Given the description of an element on the screen output the (x, y) to click on. 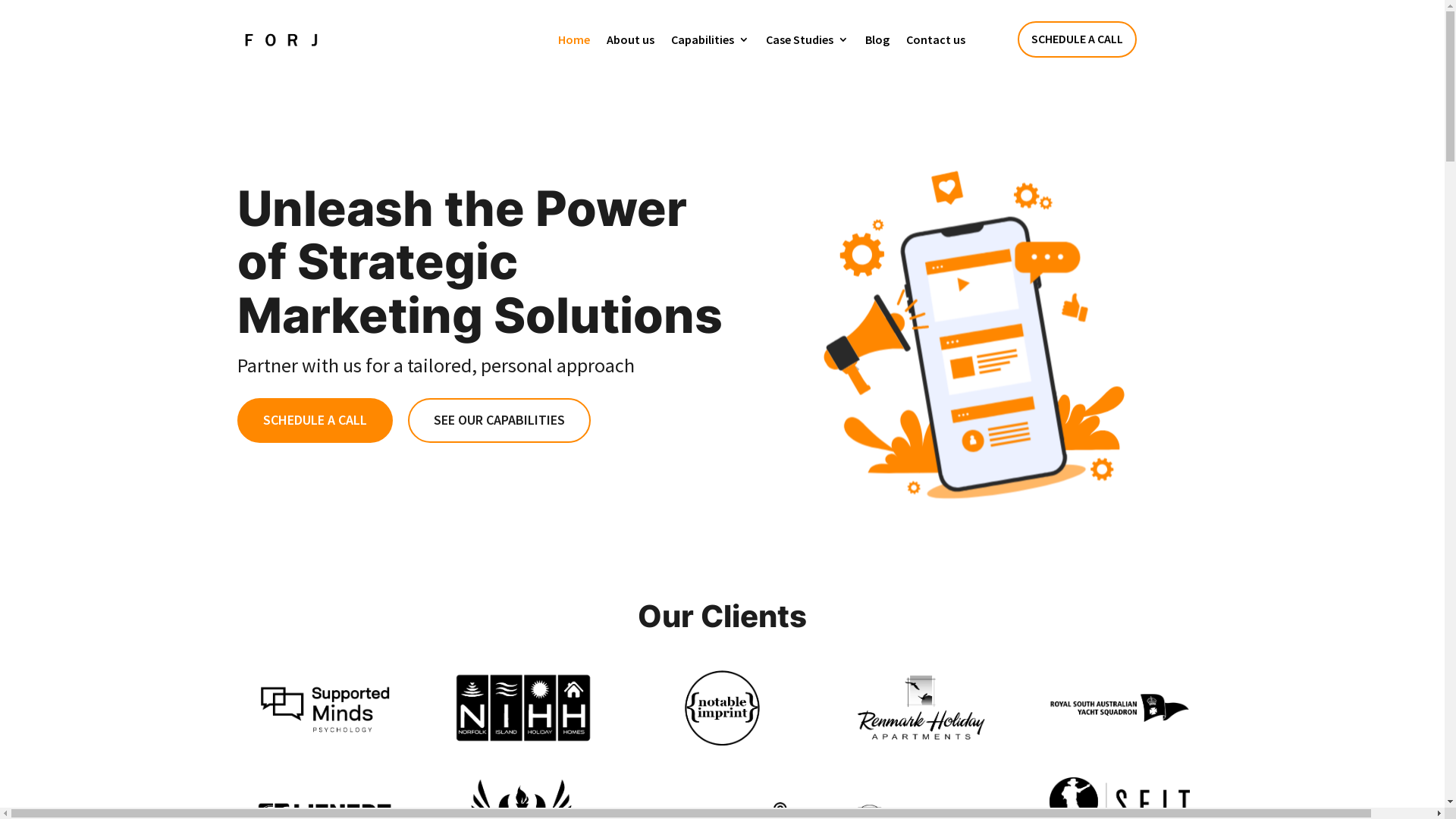
SCHEDULE A CALL Element type: text (314, 420)
SCHEDULE A CALL Element type: text (1076, 38)
Case Studies Element type: text (806, 39)
SEE OUR CAPABILITIES Element type: text (498, 420)
Blog Element type: text (876, 39)
Capabilities Element type: text (709, 39)
About us Element type: text (630, 39)
Contact us Element type: text (934, 39)
Home Element type: text (573, 39)
